Given the description of an element on the screen output the (x, y) to click on. 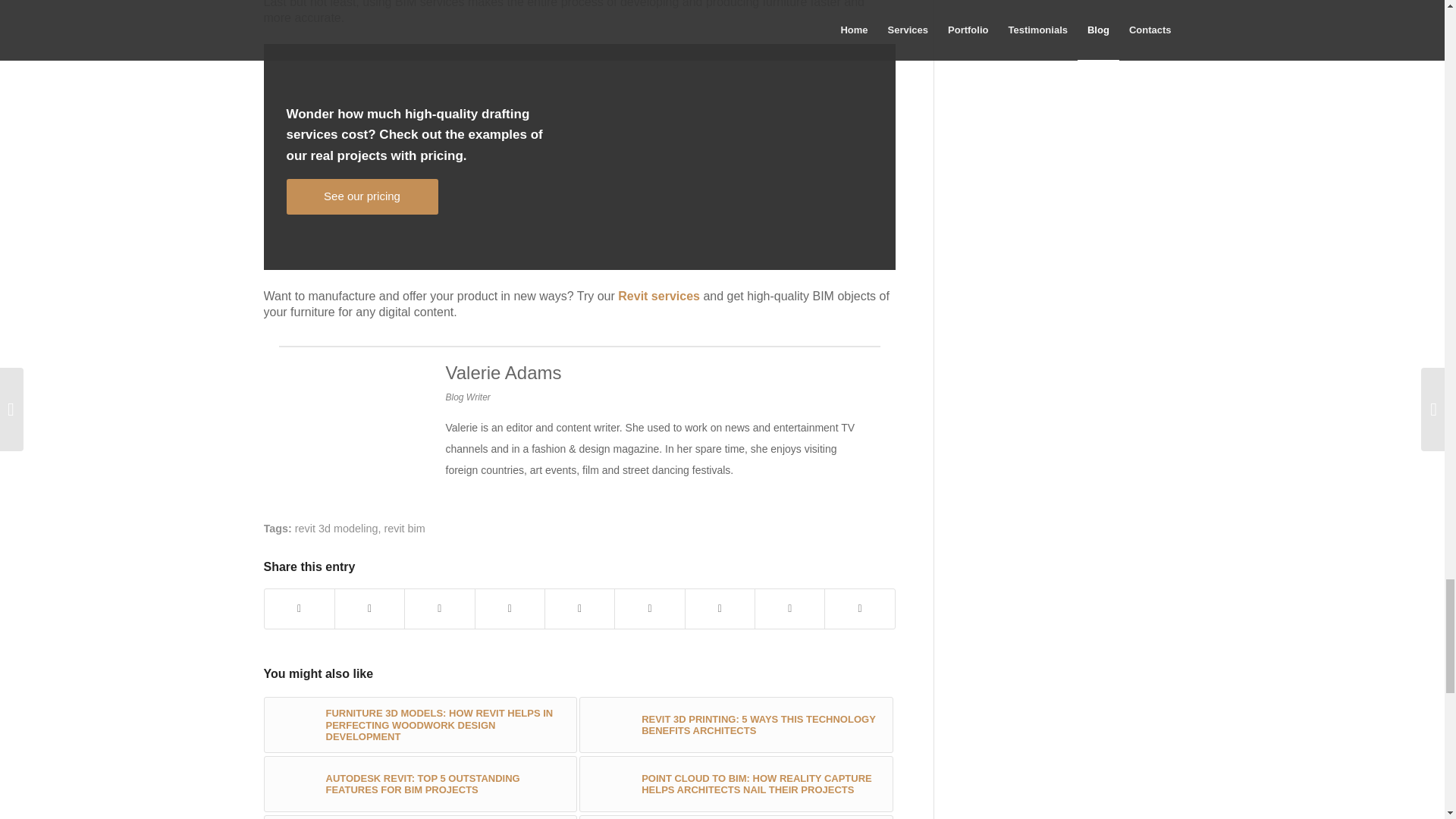
See our pricing (362, 196)
BIM OBJECTS: READY-MADE FAMILIES VS THE CUSTOM ONES (736, 816)
AUTODESK REVIT: TOP 5 OUTSTANDING FEATURES FOR BIM PROJECTS (420, 783)
Revit services (658, 295)
revit 3d modeling (336, 528)
revit bim (404, 528)
